Given the description of an element on the screen output the (x, y) to click on. 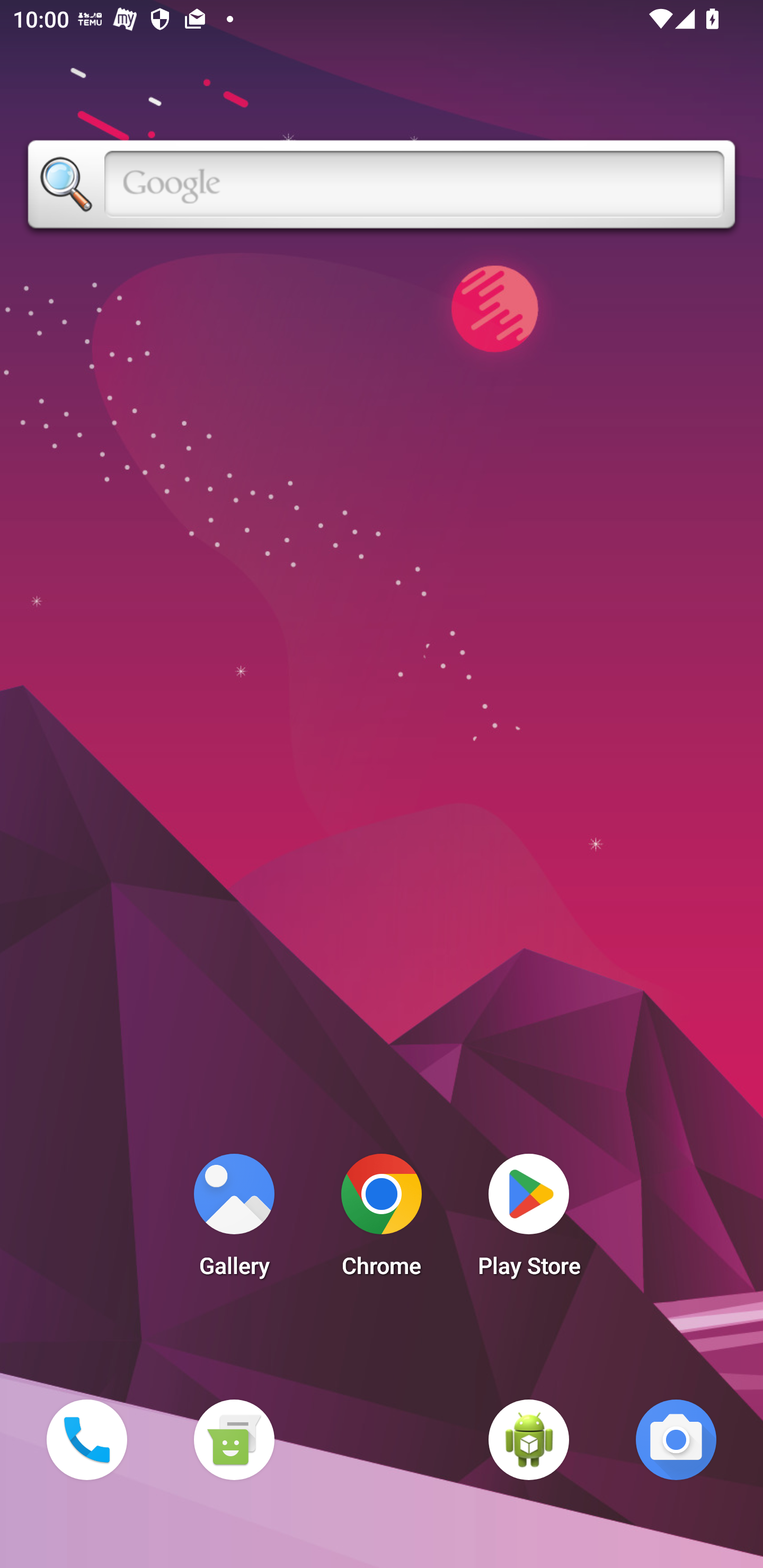
Gallery (233, 1220)
Chrome (381, 1220)
Play Store (528, 1220)
Phone (86, 1439)
Messaging (233, 1439)
WebView Browser Tester (528, 1439)
Camera (676, 1439)
